Given the description of an element on the screen output the (x, y) to click on. 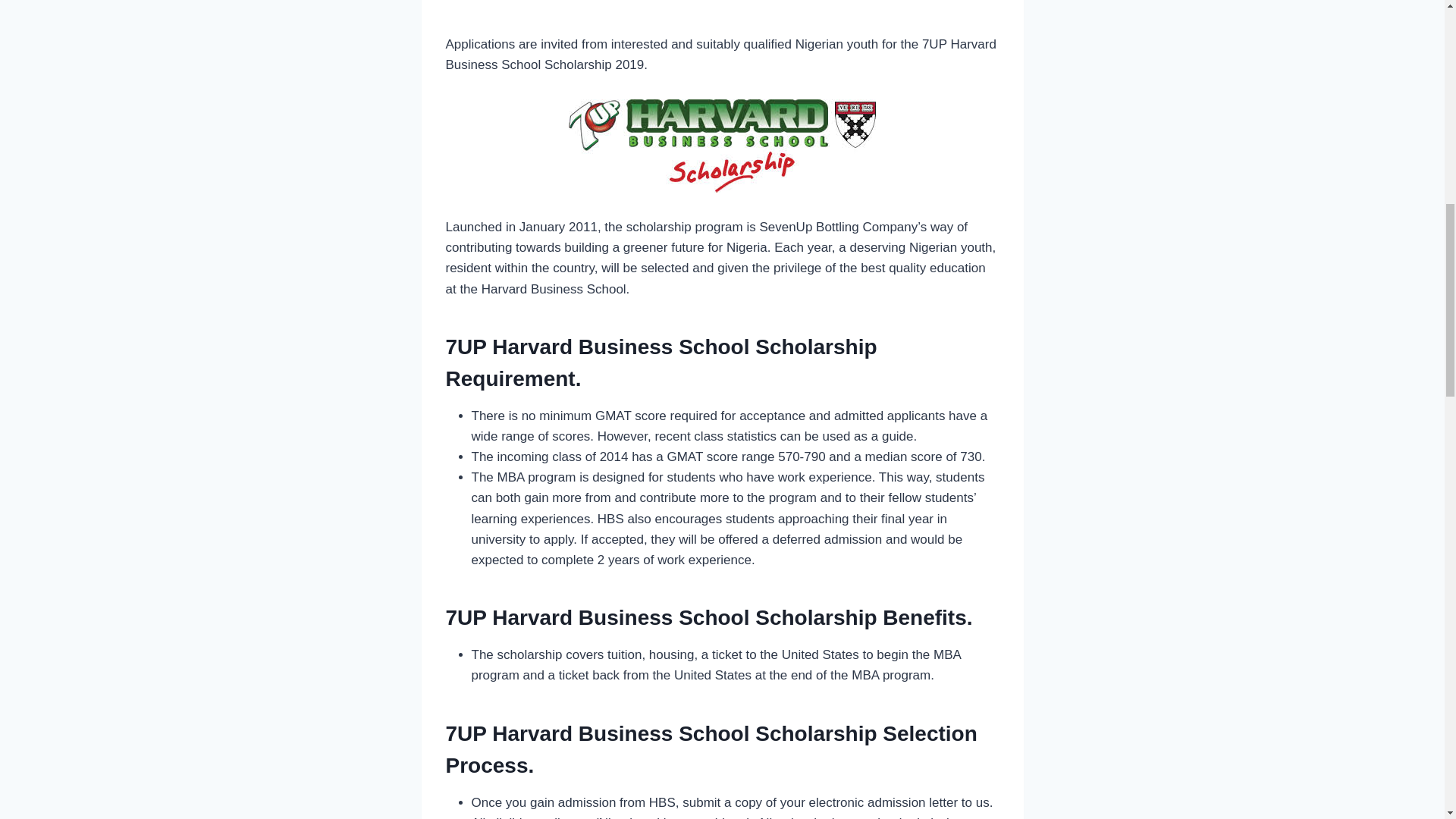
Advertisement (721, 13)
